Given the description of an element on the screen output the (x, y) to click on. 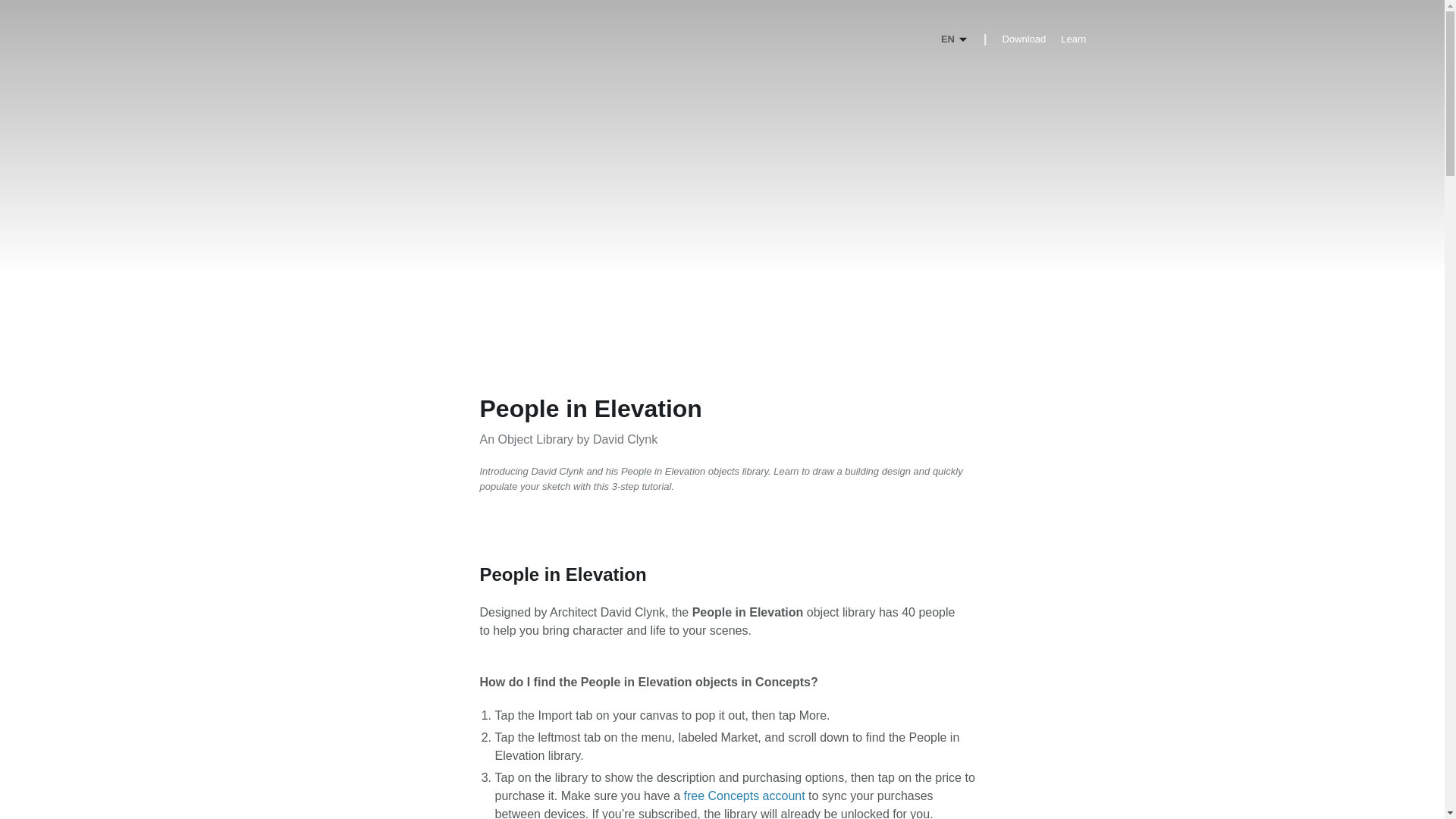
Learn (1073, 38)
free Concepts account (744, 795)
Download (1023, 38)
